Given the description of an element on the screen output the (x, y) to click on. 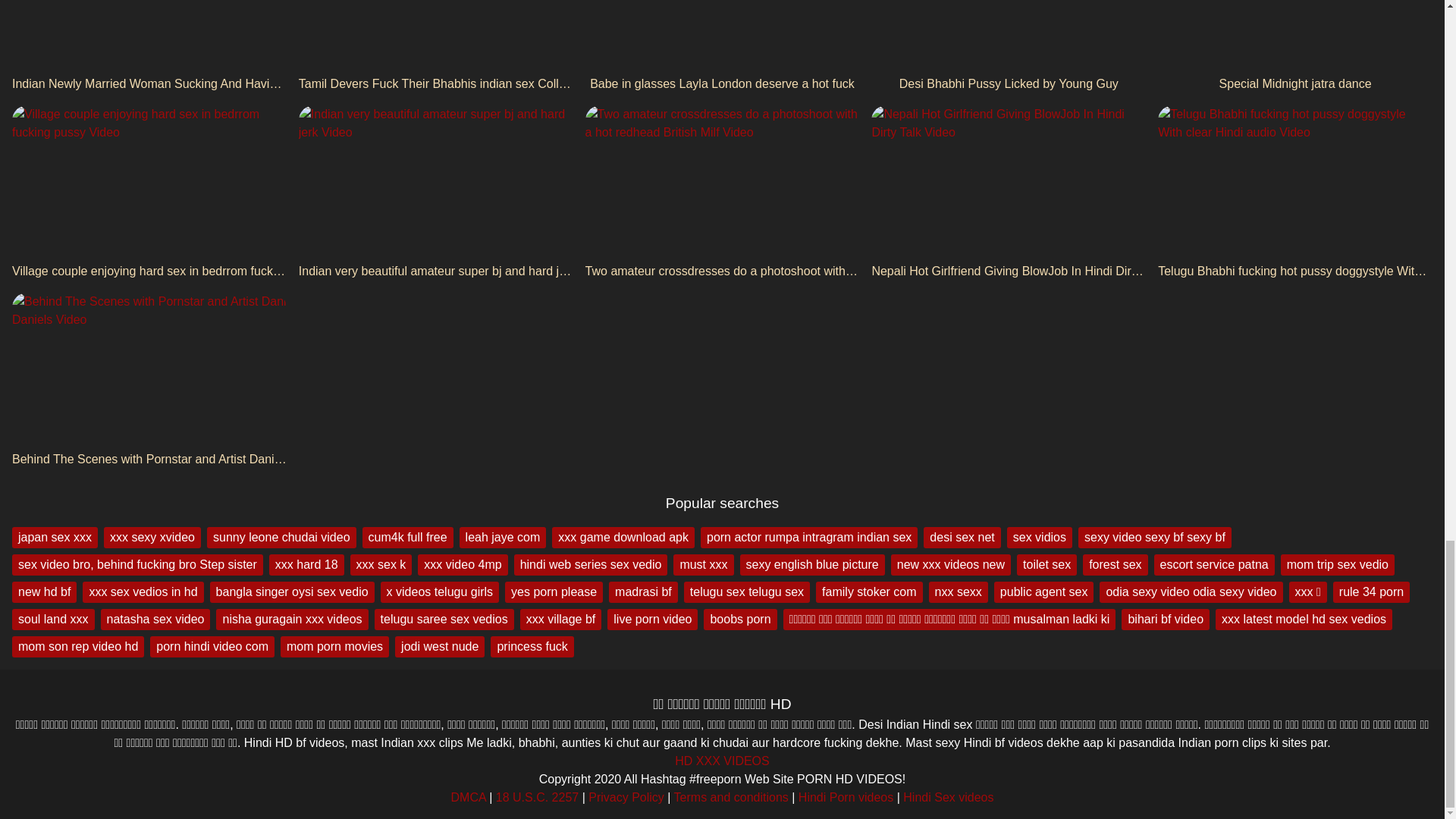
xxx sexy xvideo (151, 537)
Nepali Hot Girlfriend Giving BlowJob In Hindi Dirty Talk (1007, 193)
Indian very beautiful amateur super bj and hard jerk (435, 193)
Indian Newly Married Woman Sucking And Having Sex (148, 46)
Behind The Scenes with Pornstar and Artist Dani Daniels (148, 380)
Babe in glasses Layla London deserve a hot fuck (722, 46)
Village couple enjoying hard sex in bedrrom fucking pussy (148, 193)
Tamil Devers Fuck Their Bhabhis indian sex Collection (435, 46)
